Given the description of an element on the screen output the (x, y) to click on. 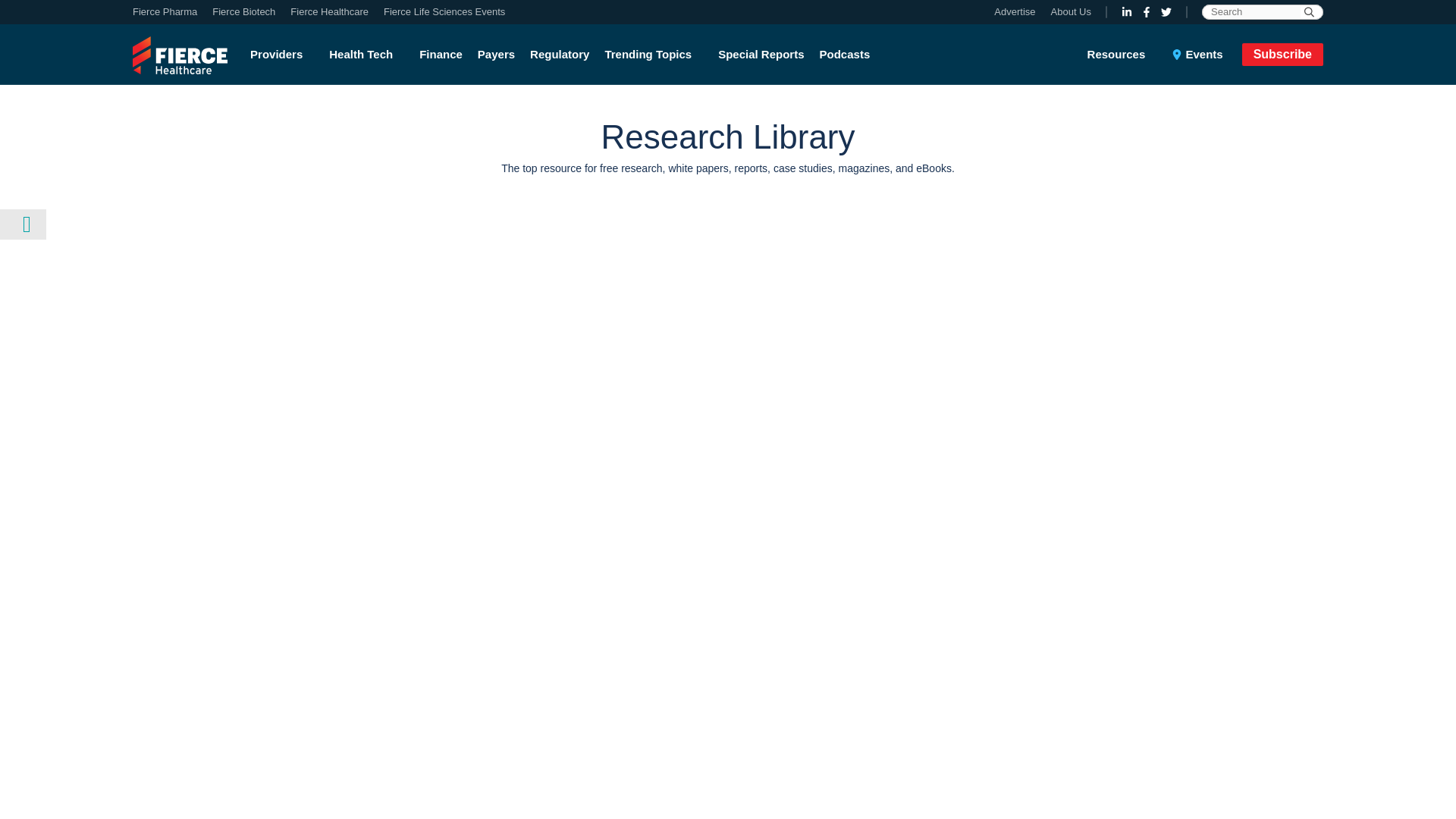
Payers (496, 54)
About Us (1066, 12)
Resources (1125, 54)
Health Tech (366, 54)
Podcasts (844, 54)
Finance (441, 54)
Providers (285, 54)
Fierce Pharma (168, 12)
Regulatory (559, 54)
Special Reports (760, 54)
Subscribe (1282, 53)
Life Sciences Events (440, 12)
Special Reports (760, 54)
Fierce Life Sciences Events (440, 12)
Fierce Healthcare (328, 12)
